Given the description of an element on the screen output the (x, y) to click on. 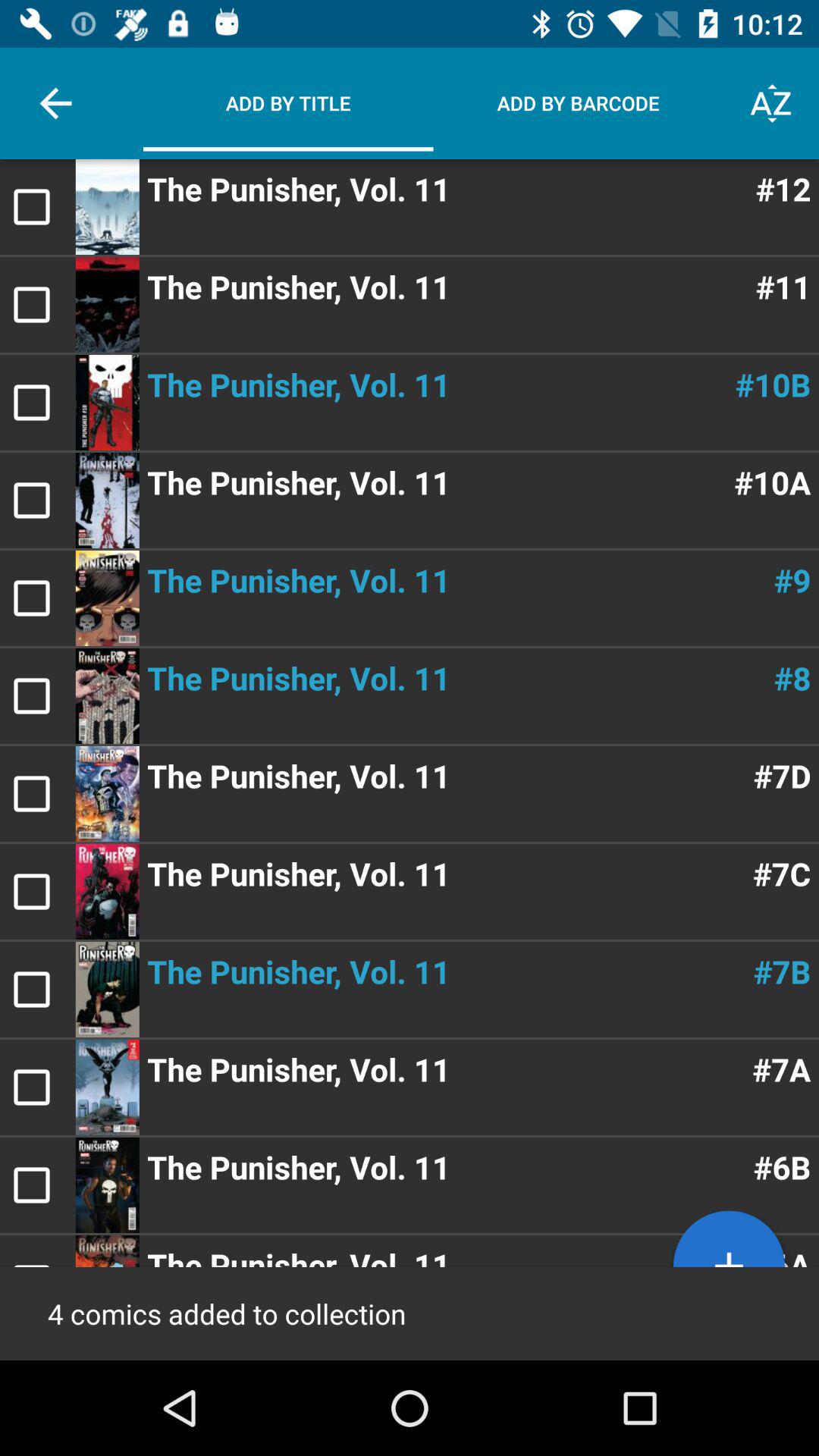
select the image on the left side of character 9 (107, 598)
click on the image which is on the left side of 6b (107, 1185)
